Given the description of an element on the screen output the (x, y) to click on. 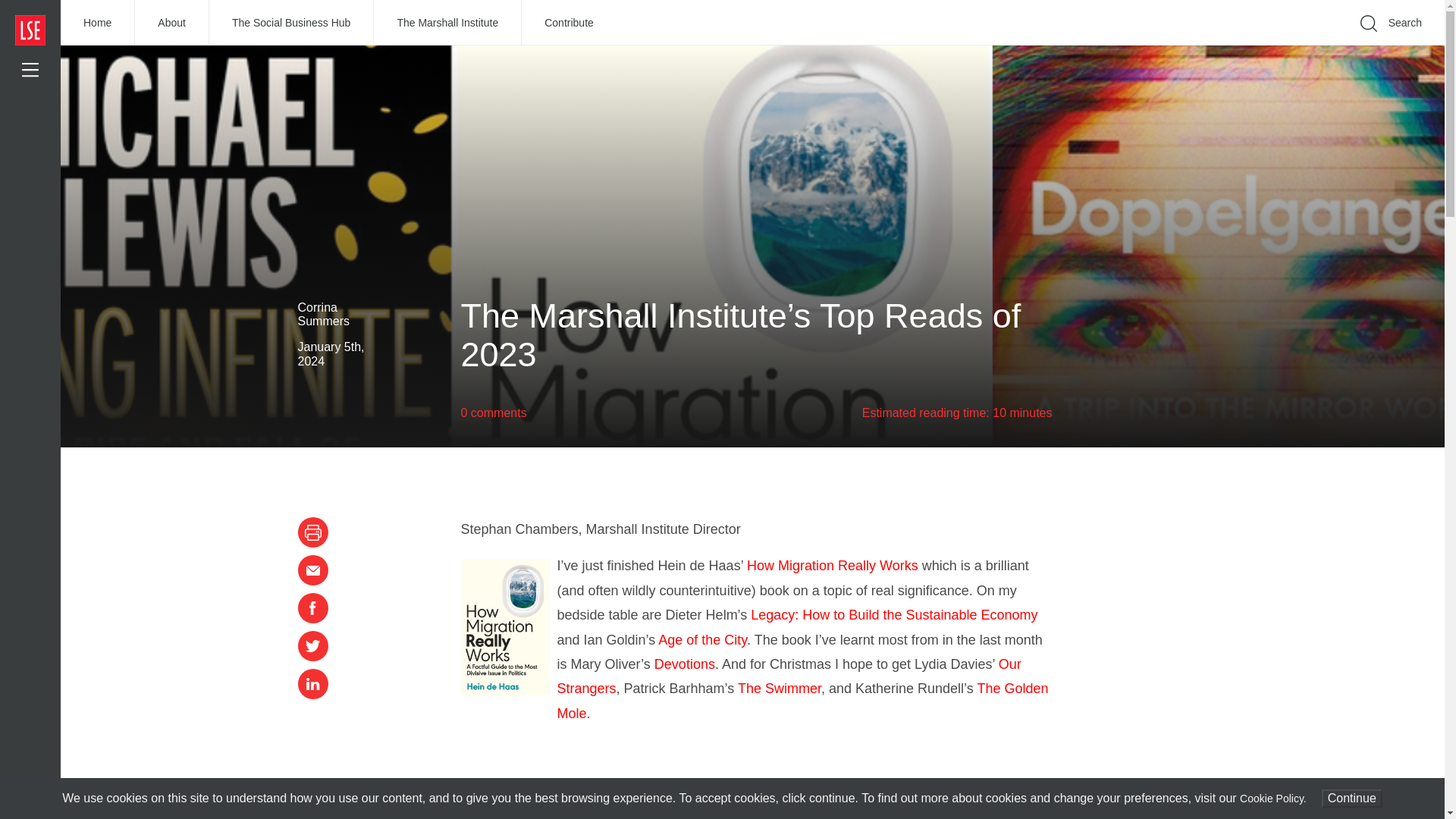
The Golden Mole (802, 700)
Legacy: How to Build the Sustainable Economy (893, 614)
The Swimmer (779, 688)
Home (98, 22)
Devotions (683, 663)
Our Strangers (788, 676)
Go (1190, 44)
About (172, 22)
The Marshall Institute (447, 22)
Age of the City (700, 639)
